Given the description of an element on the screen output the (x, y) to click on. 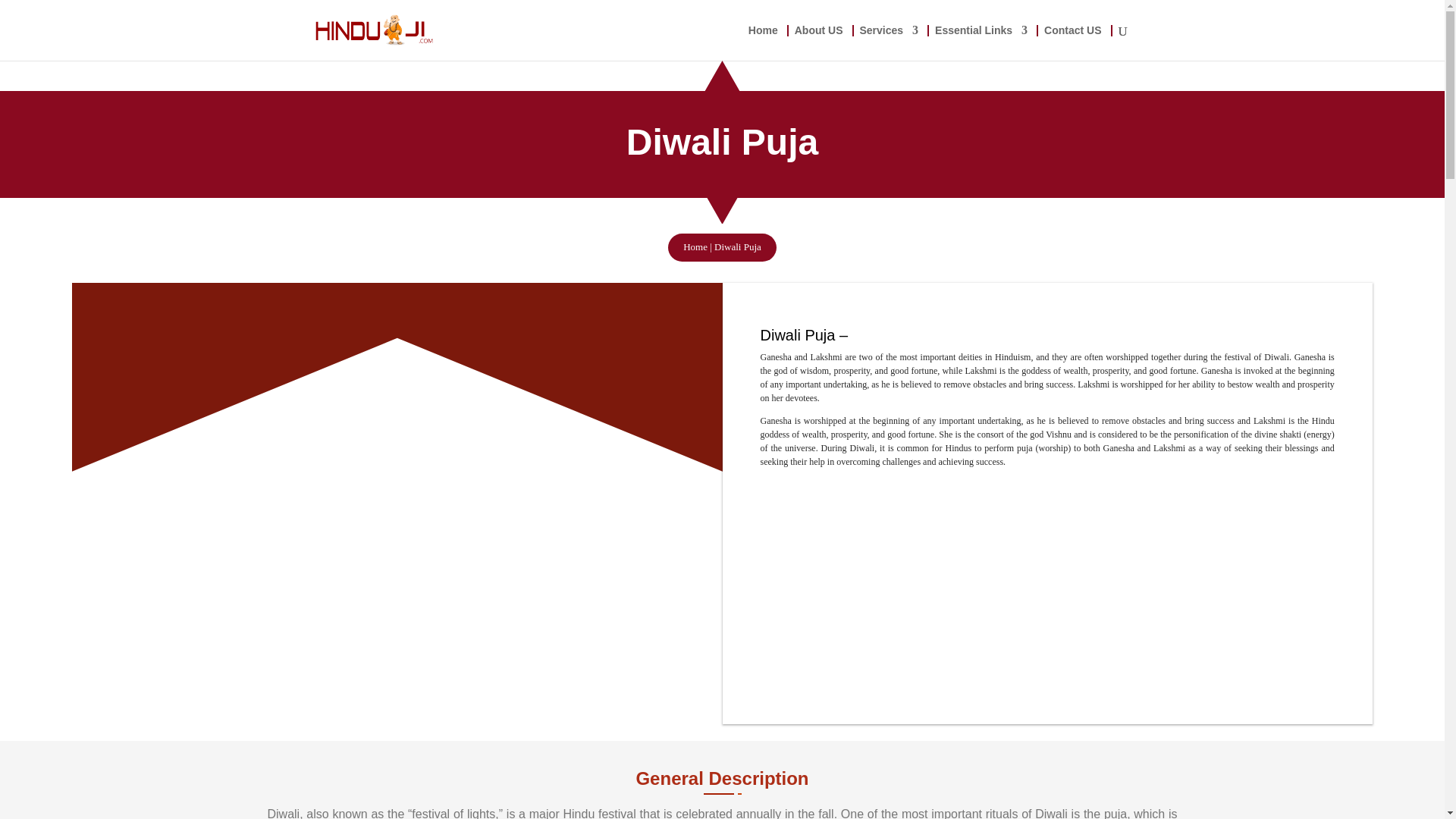
About US (818, 42)
Home (694, 246)
Services (889, 42)
Contact US (1071, 42)
Essential Links (980, 42)
